Given the description of an element on the screen output the (x, y) to click on. 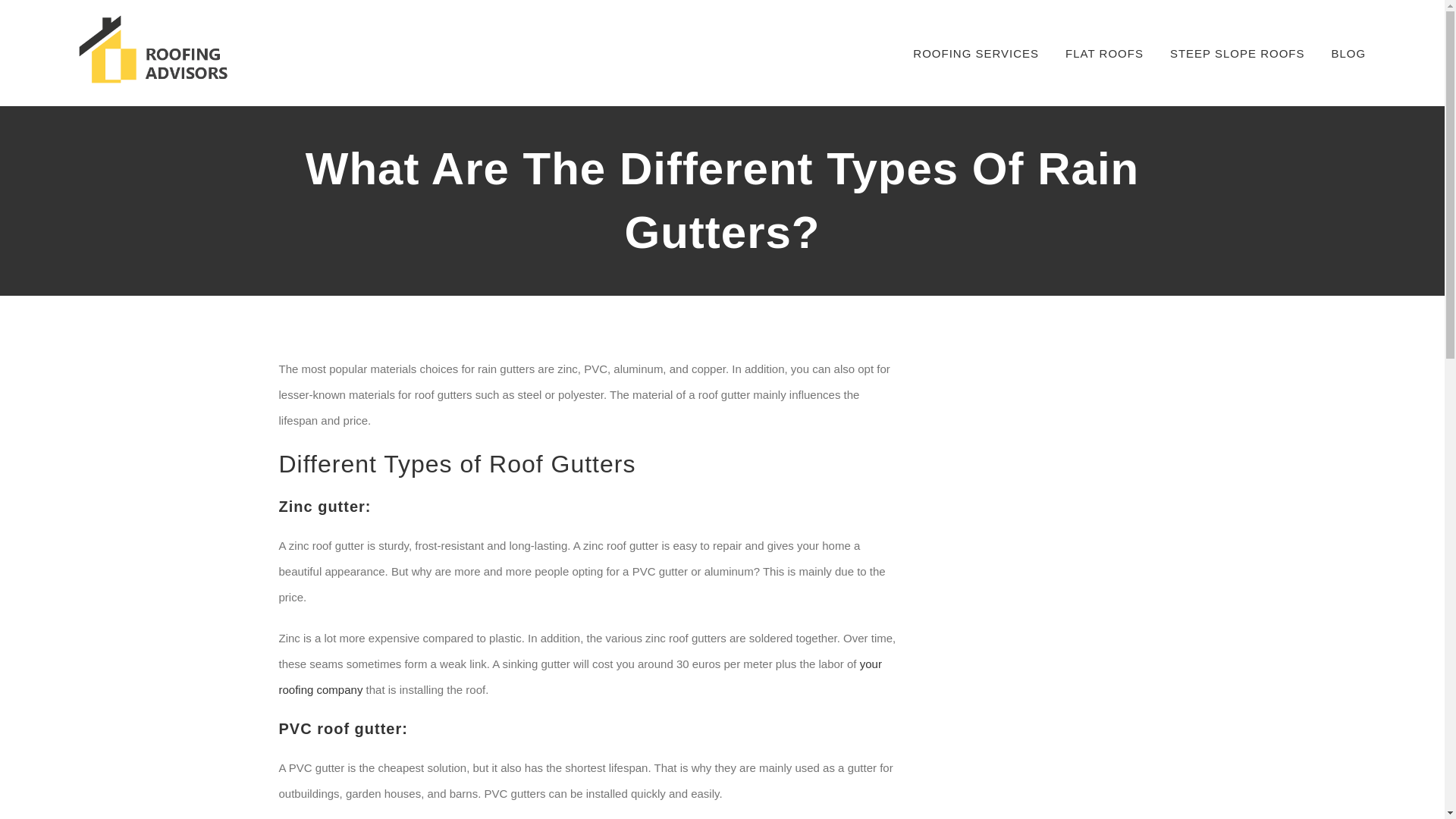
ROOFING SERVICES (975, 53)
STEEP SLOPE ROOFS (1237, 53)
